Given the description of an element on the screen output the (x, y) to click on. 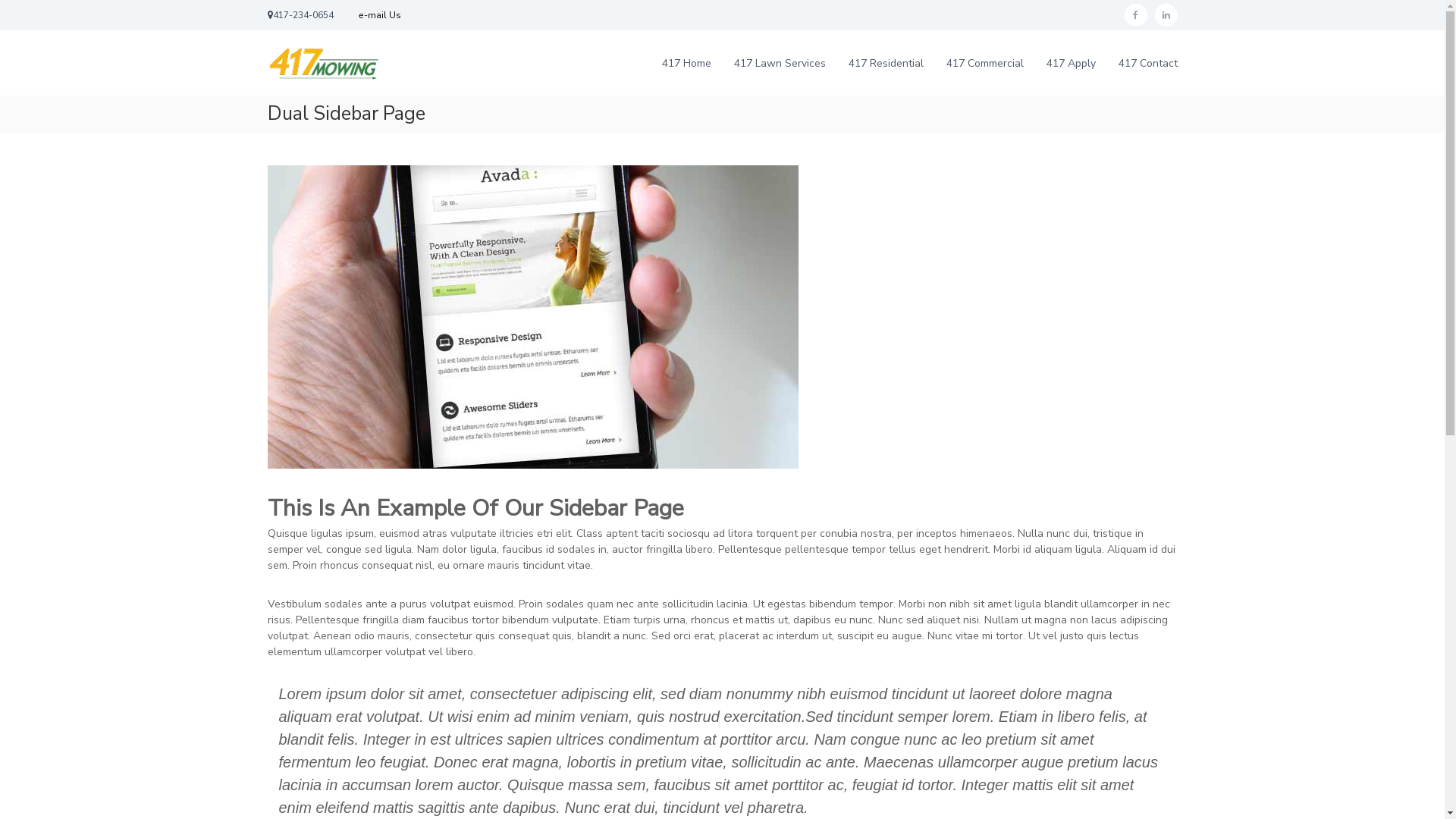
full_width Element type: hover (531, 316)
Shawn Jones/Owner LinkedIn Element type: text (1165, 14)
e-mail Us Element type: text (378, 15)
417 Apply Element type: text (1070, 63)
417 Lawn Services Element type: text (779, 63)
417 Home Element type: text (685, 63)
417 Residential Element type: text (884, 63)
417 Mowing: Springfield, MO Element type: text (395, 248)
417 Contact Element type: text (1146, 63)
417 Commercial Element type: text (984, 63)
